Given the description of an element on the screen output the (x, y) to click on. 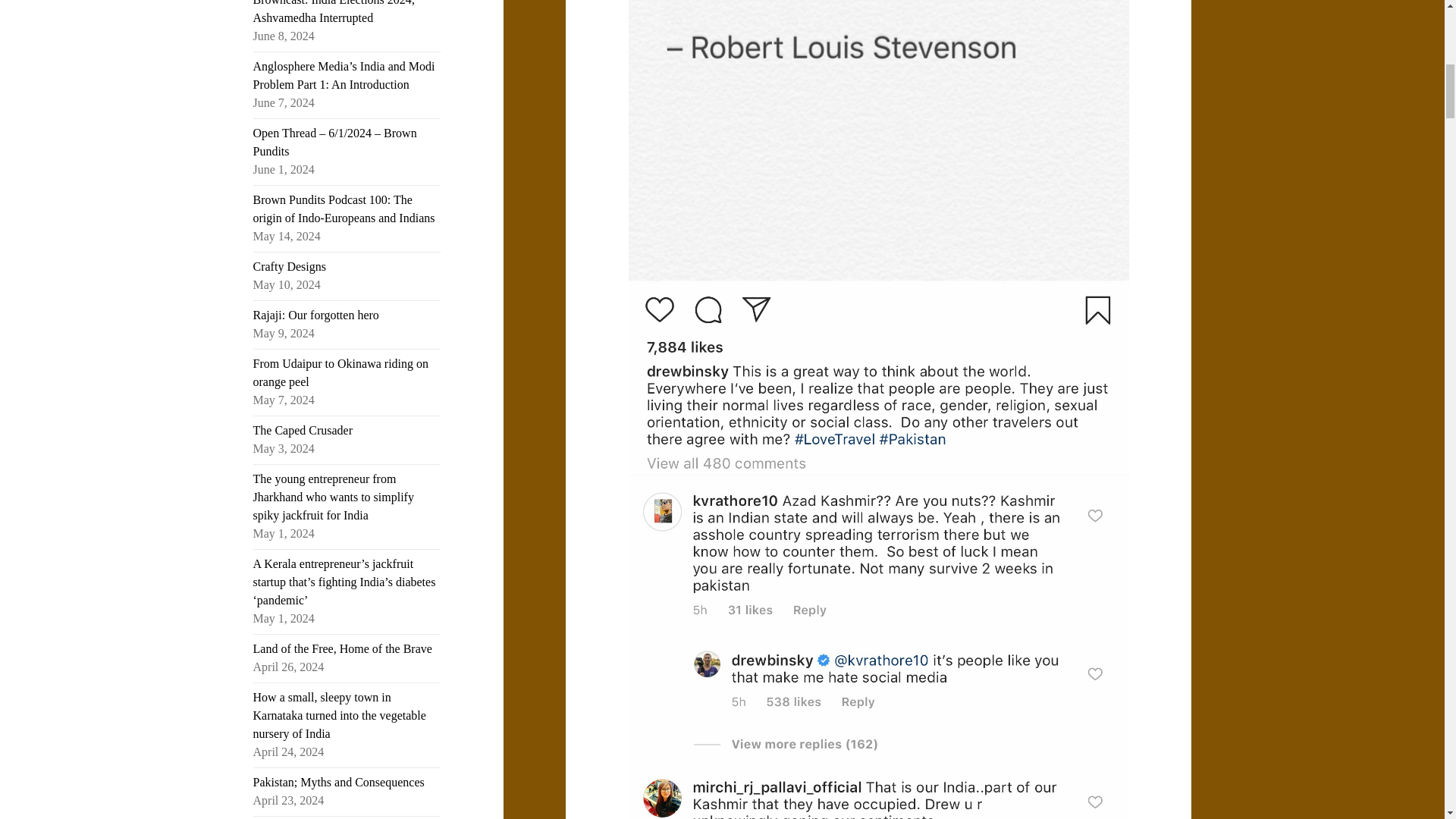
Land of the Free, Home of the Brave (342, 648)
Crafty Designs (289, 266)
Rajaji: Our forgotten hero (315, 314)
Browncast: India Elections 2024; Ashvamedha Interrupted (333, 12)
The Caped Crusader (303, 430)
From Udaipur to Okinawa riding on orange peel (341, 372)
Pakistan; Myths and Consequences (339, 781)
